Given the description of an element on the screen output the (x, y) to click on. 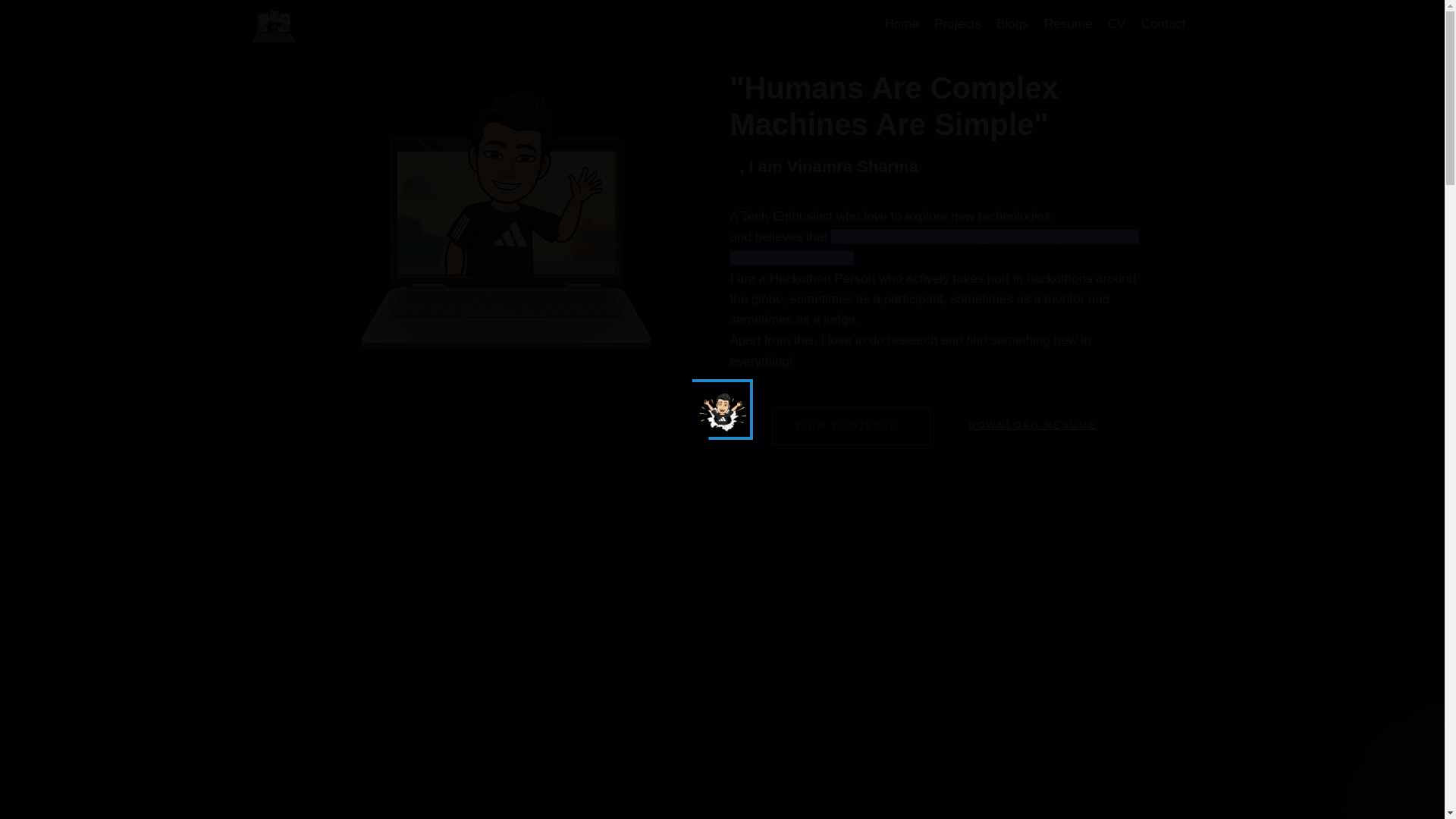
Home (901, 23)
Resume (1068, 23)
Contact (1163, 23)
CV (1117, 23)
Blogs (1012, 23)
DOWNLOAD RESUME (1036, 425)
VIEW PROJECTS (850, 426)
Projects (957, 23)
